Given the description of an element on the screen output the (x, y) to click on. 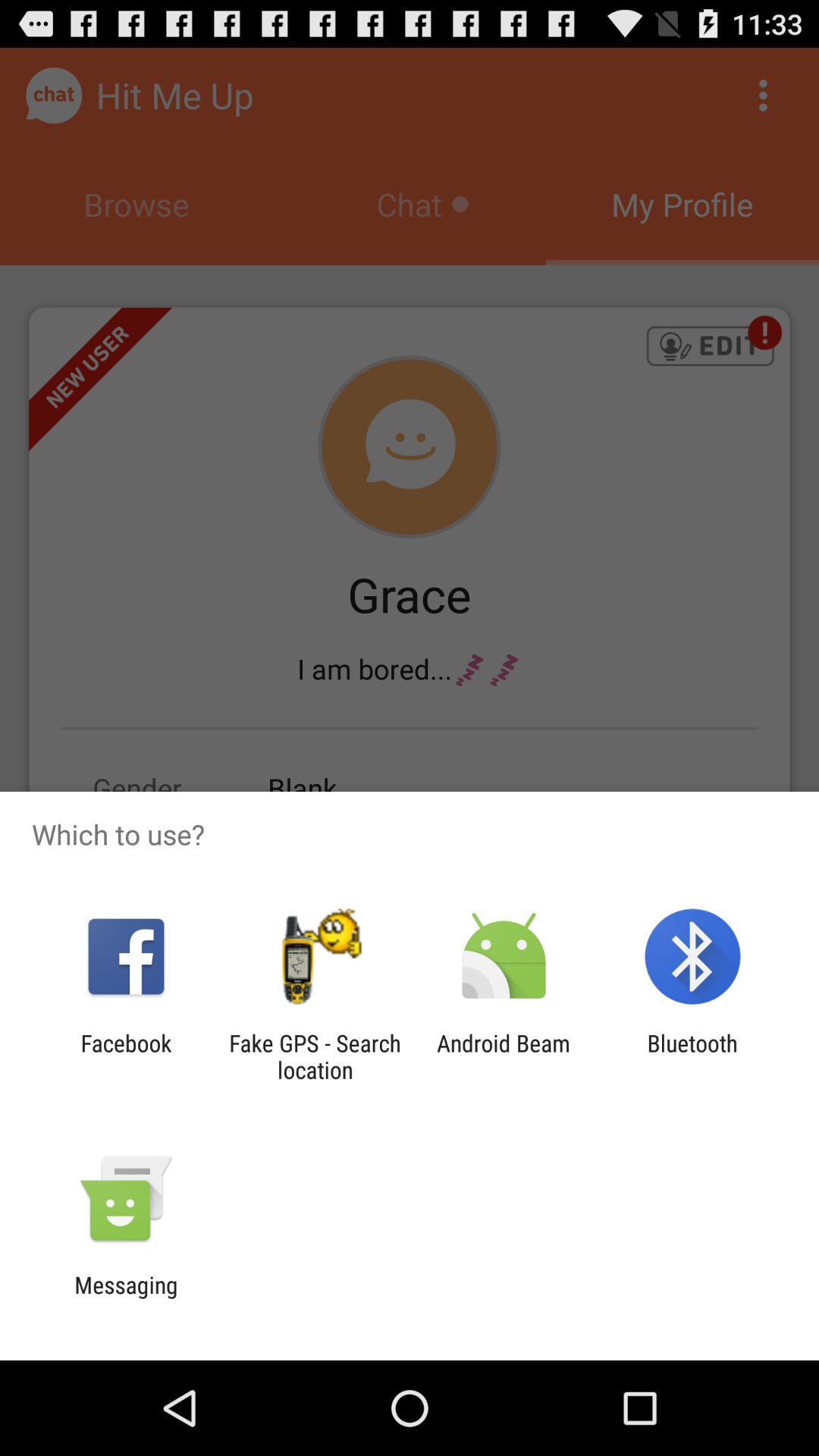
open icon to the right of android beam icon (692, 1056)
